Given the description of an element on the screen output the (x, y) to click on. 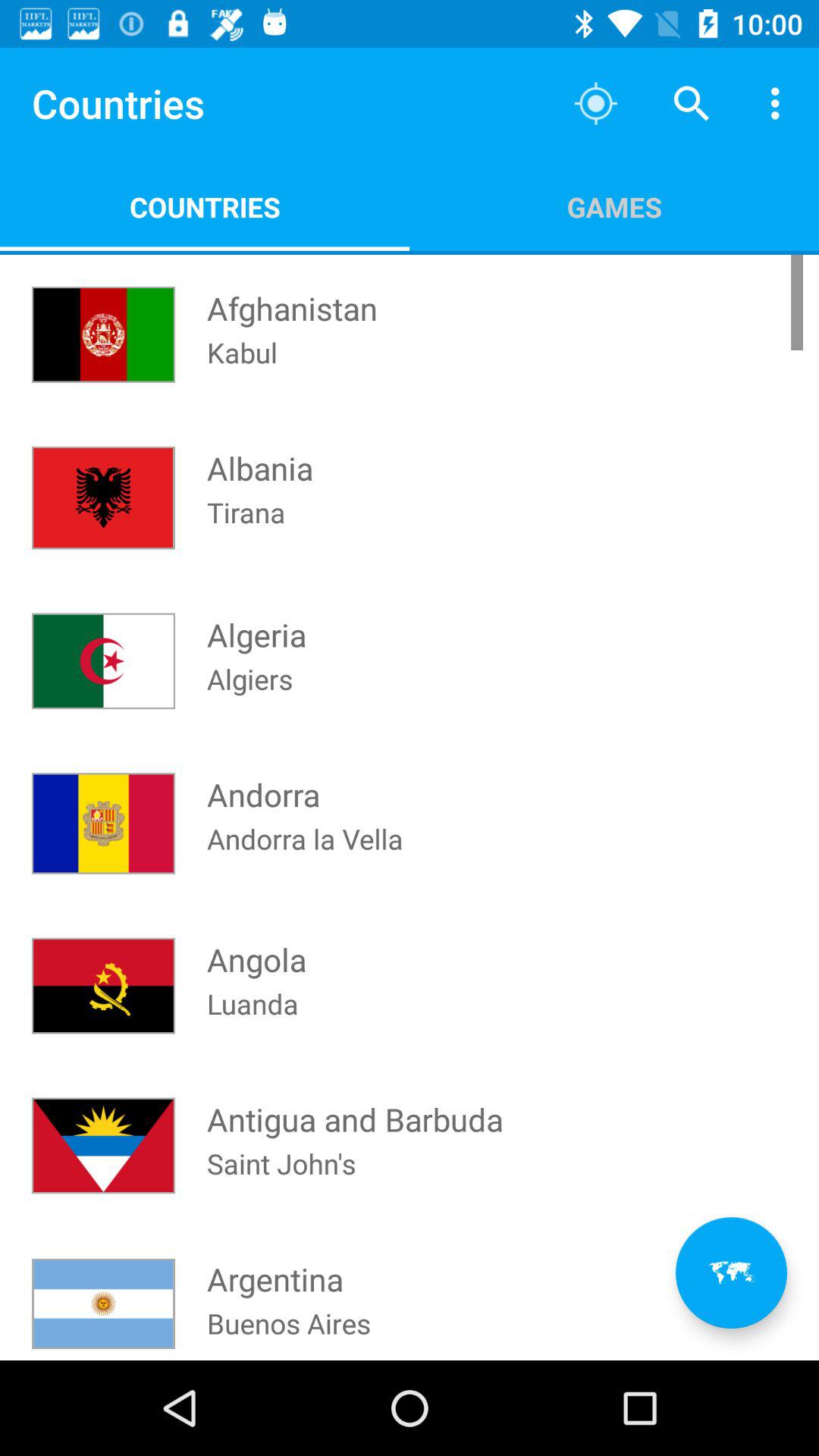
open the saint john's icon (281, 1183)
